Given the description of an element on the screen output the (x, y) to click on. 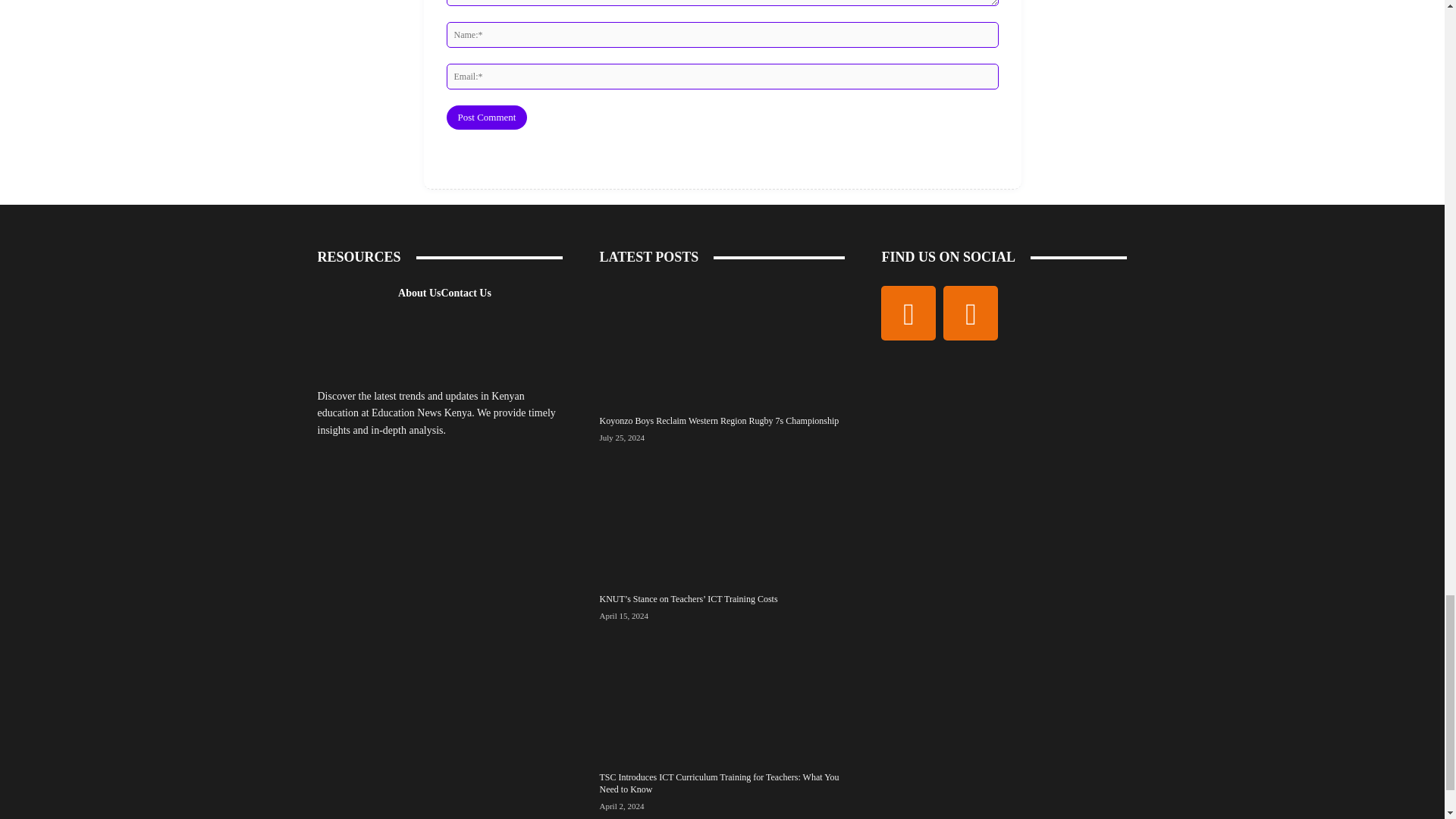
Twitter (970, 312)
Koyonzo Boys Reclaim Western Region Rugby 7s Championship (721, 342)
Post Comment (486, 117)
Koyonzo Boys Reclaim Western Region Rugby 7s Championship (718, 420)
Facebook (908, 312)
